Given the description of an element on the screen output the (x, y) to click on. 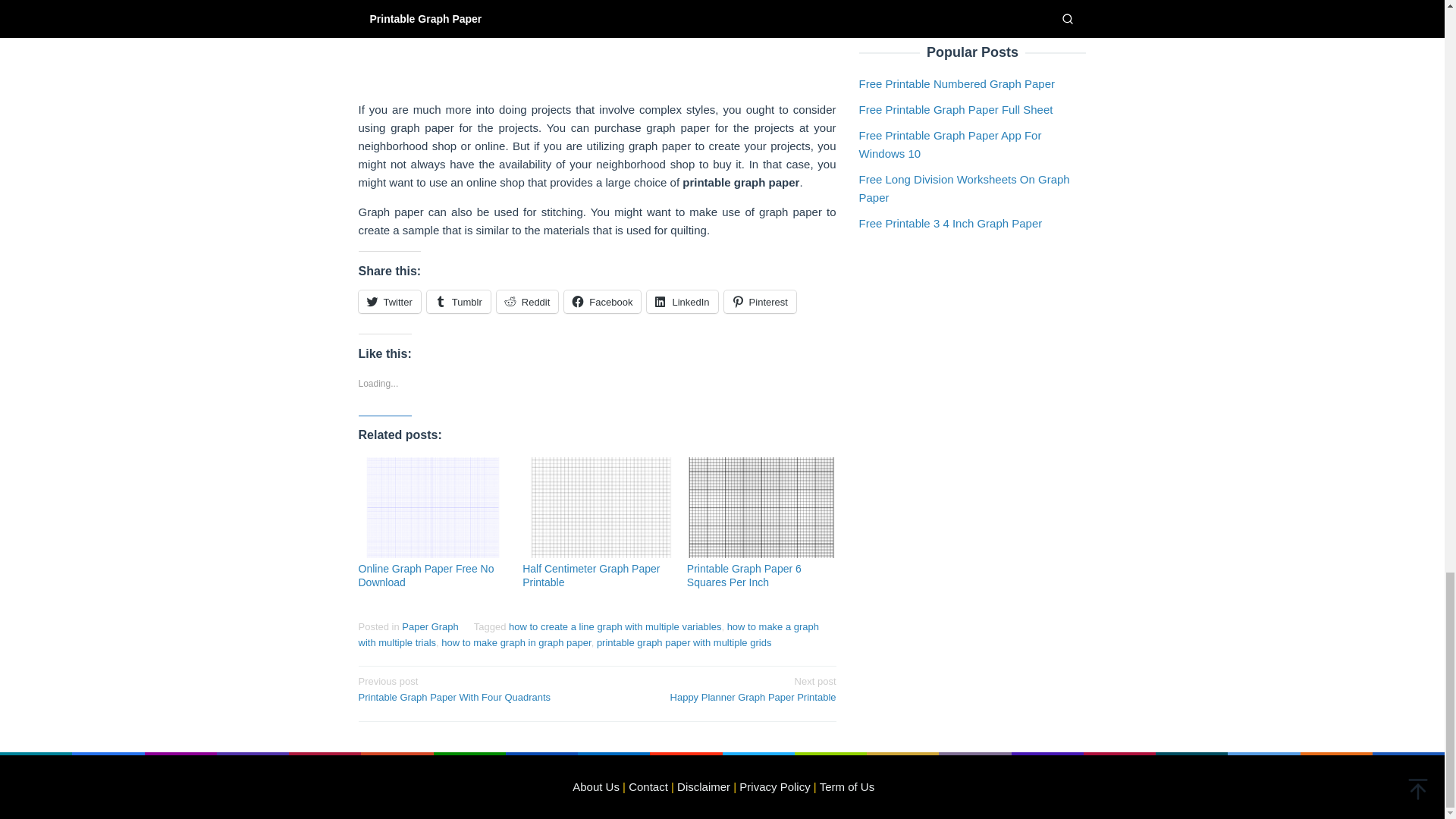
Click to share on Twitter (389, 301)
Twitter (389, 301)
how to make graph in graph paper (516, 642)
Contact (721, 688)
Pinterest (648, 786)
Permalink to: Online Graph Paper Free No Download (759, 301)
About Us (432, 507)
Online Graph Paper Free No Download (596, 786)
Facebook (425, 575)
Click to share on Pinterest (602, 301)
Click to share on Reddit (759, 301)
Click to share on LinkedIn (527, 301)
Permalink to: Online Graph Paper Free No Download (472, 688)
